Given the description of an element on the screen output the (x, y) to click on. 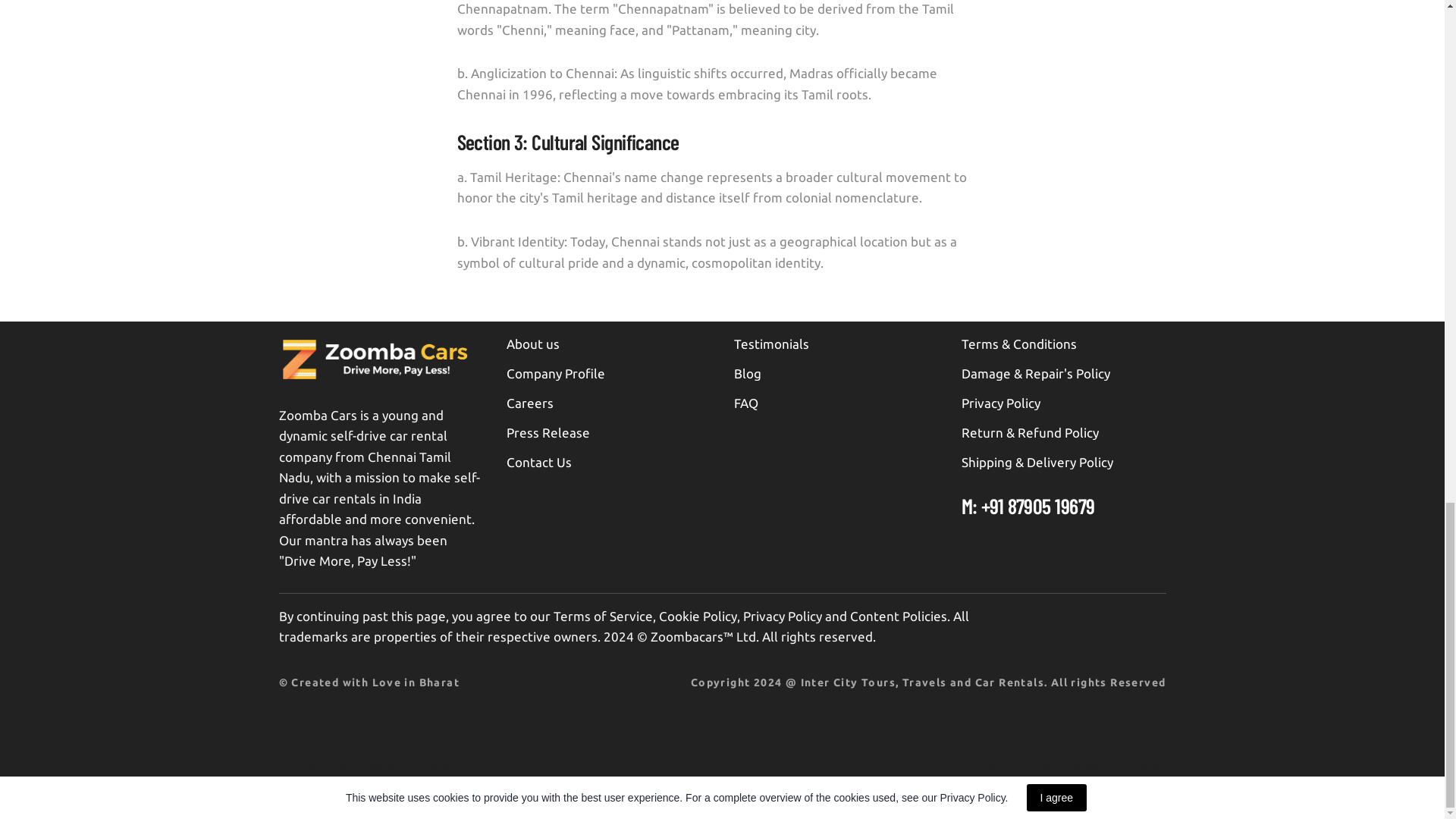
Press Release (547, 432)
best car rental chennai (361, 730)
Testimonials (771, 343)
Blog (747, 373)
About us (532, 343)
Privacy Policy (1000, 402)
Company Profile (555, 373)
Contact Us (539, 462)
Careers (529, 402)
FAQ (745, 402)
